Given the description of an element on the screen output the (x, y) to click on. 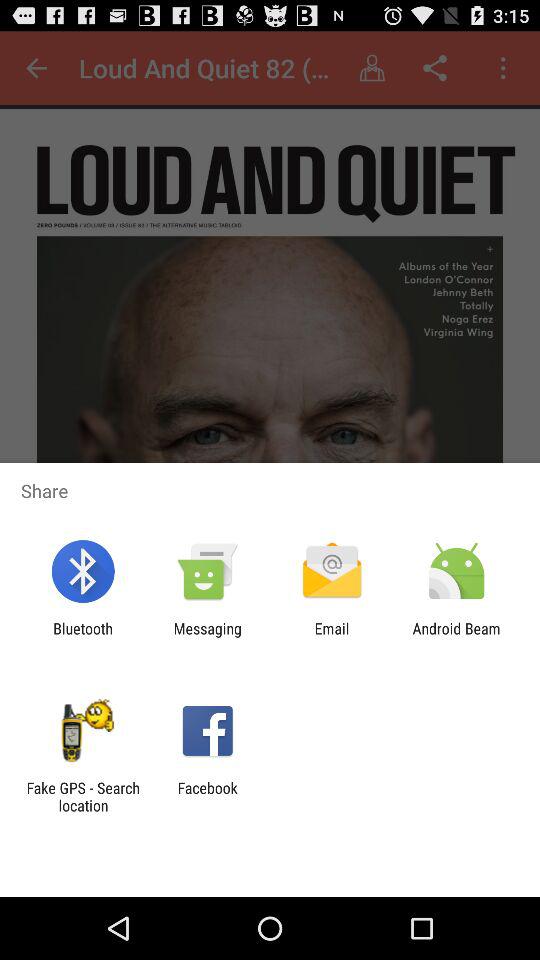
press app to the left of the facebook (83, 796)
